Given the description of an element on the screen output the (x, y) to click on. 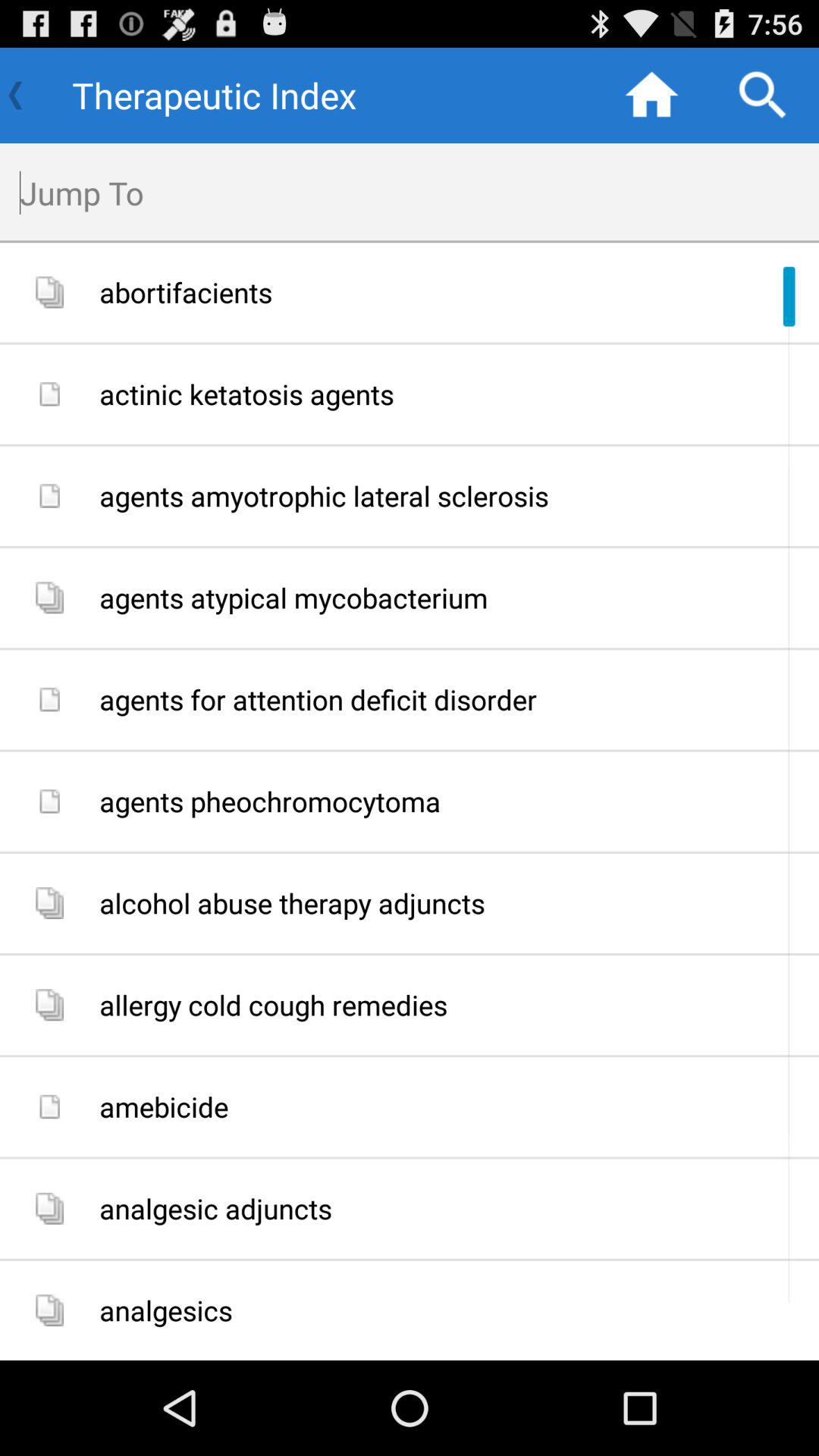
choose the agents pheochromocytoma app (453, 801)
